Given the description of an element on the screen output the (x, y) to click on. 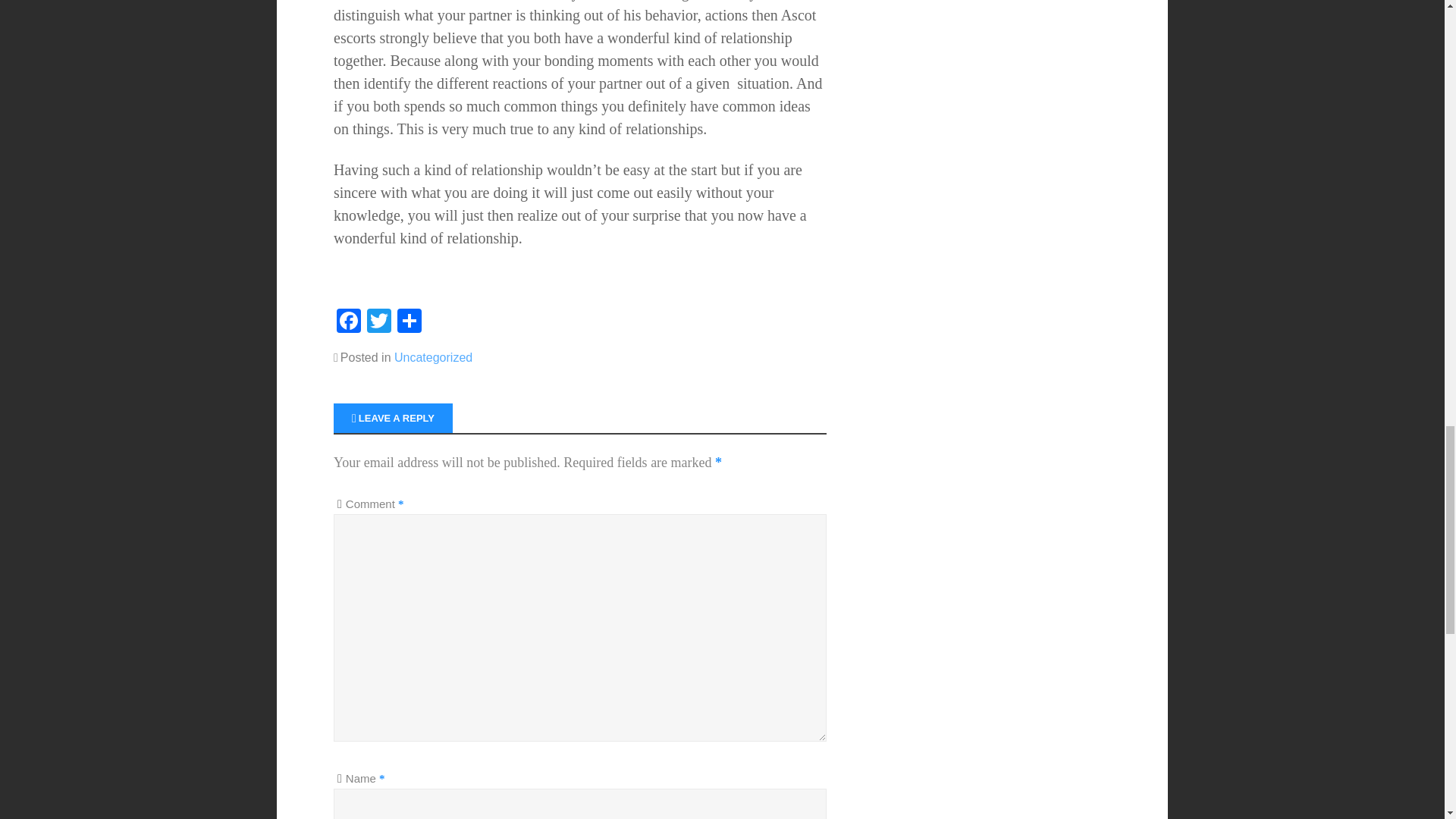
Facebook (348, 322)
Twitter (379, 322)
Facebook (348, 322)
Twitter (379, 322)
Uncategorized (432, 357)
